Given the description of an element on the screen output the (x, y) to click on. 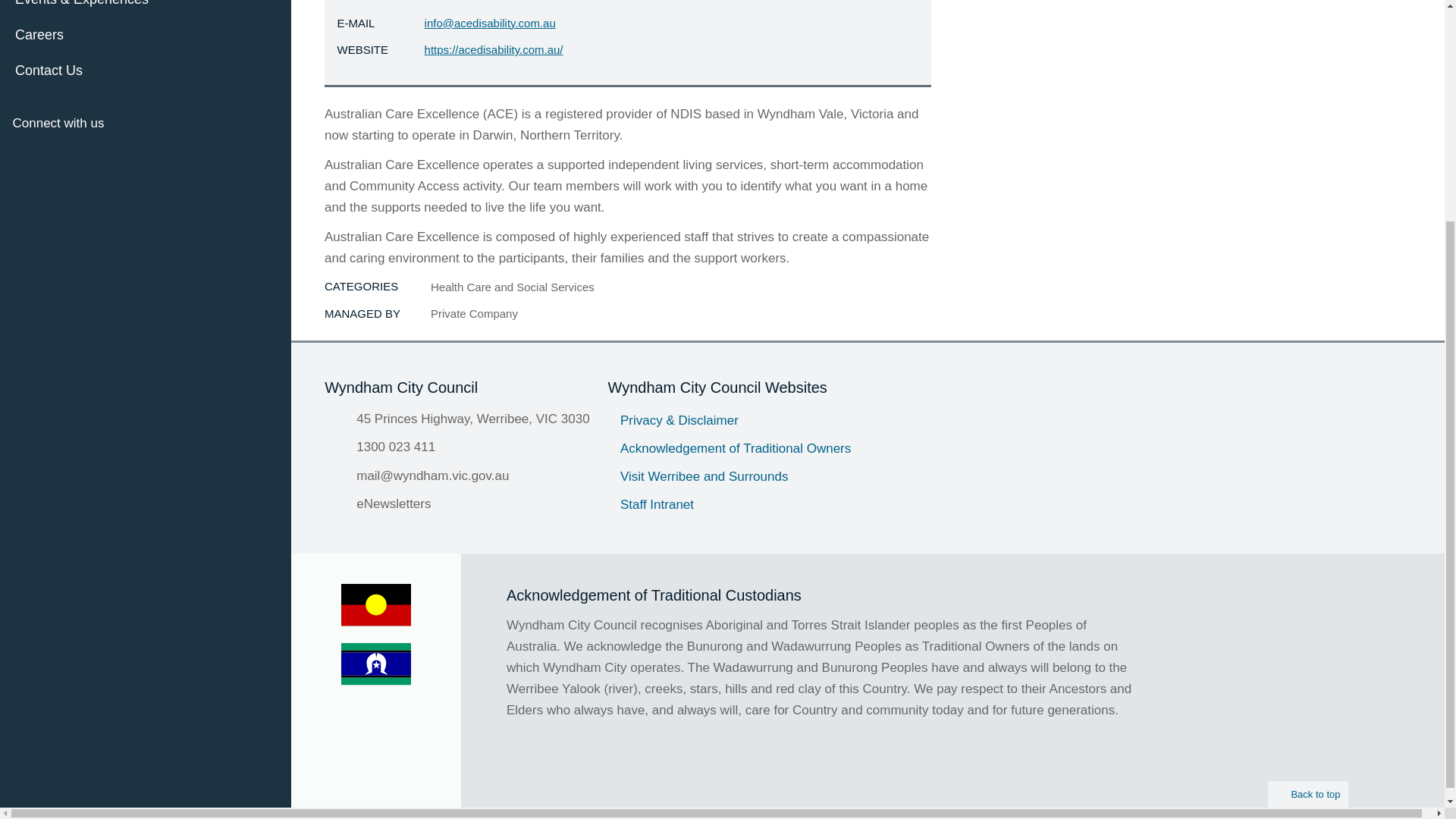
instagram (170, 155)
facebook (24, 155)
linkedin (133, 155)
interpreter (205, 155)
youtube (97, 155)
twitter (61, 155)
